Given the description of an element on the screen output the (x, y) to click on. 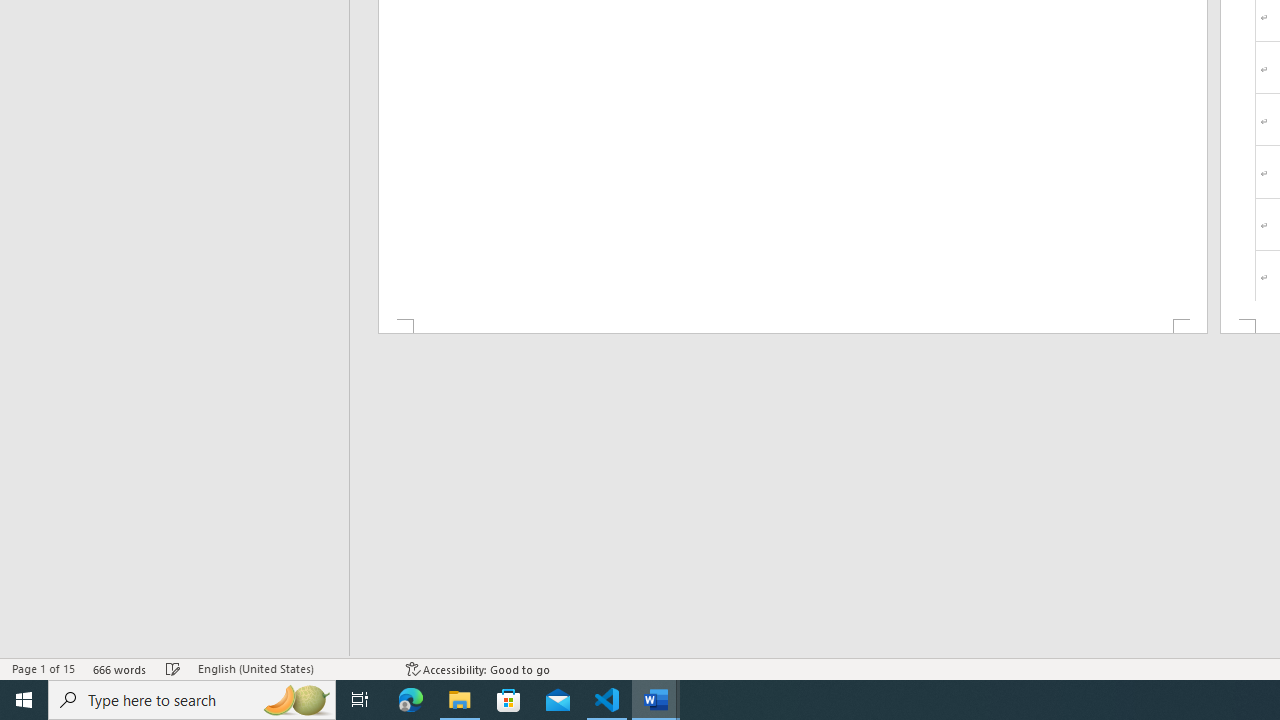
Page Number Page 1 of 15 (43, 668)
